Given the description of an element on the screen output the (x, y) to click on. 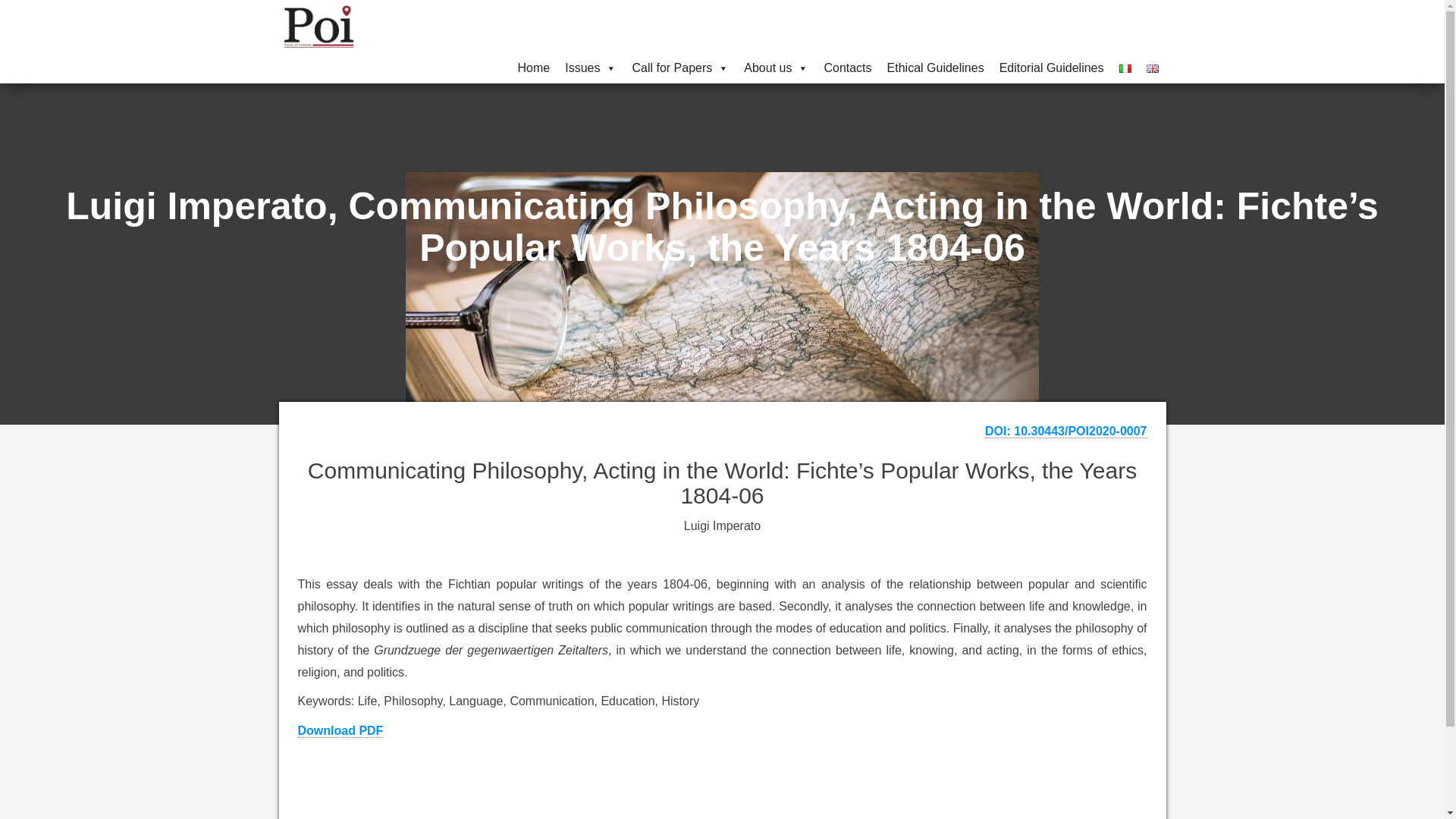
Contacts (847, 68)
Call for Papers (680, 68)
Issues (590, 68)
Ethical Guidelines (935, 68)
Download PDF (339, 730)
Home (533, 68)
About us (775, 68)
Editorial Guidelines (1051, 68)
